Given the description of an element on the screen output the (x, y) to click on. 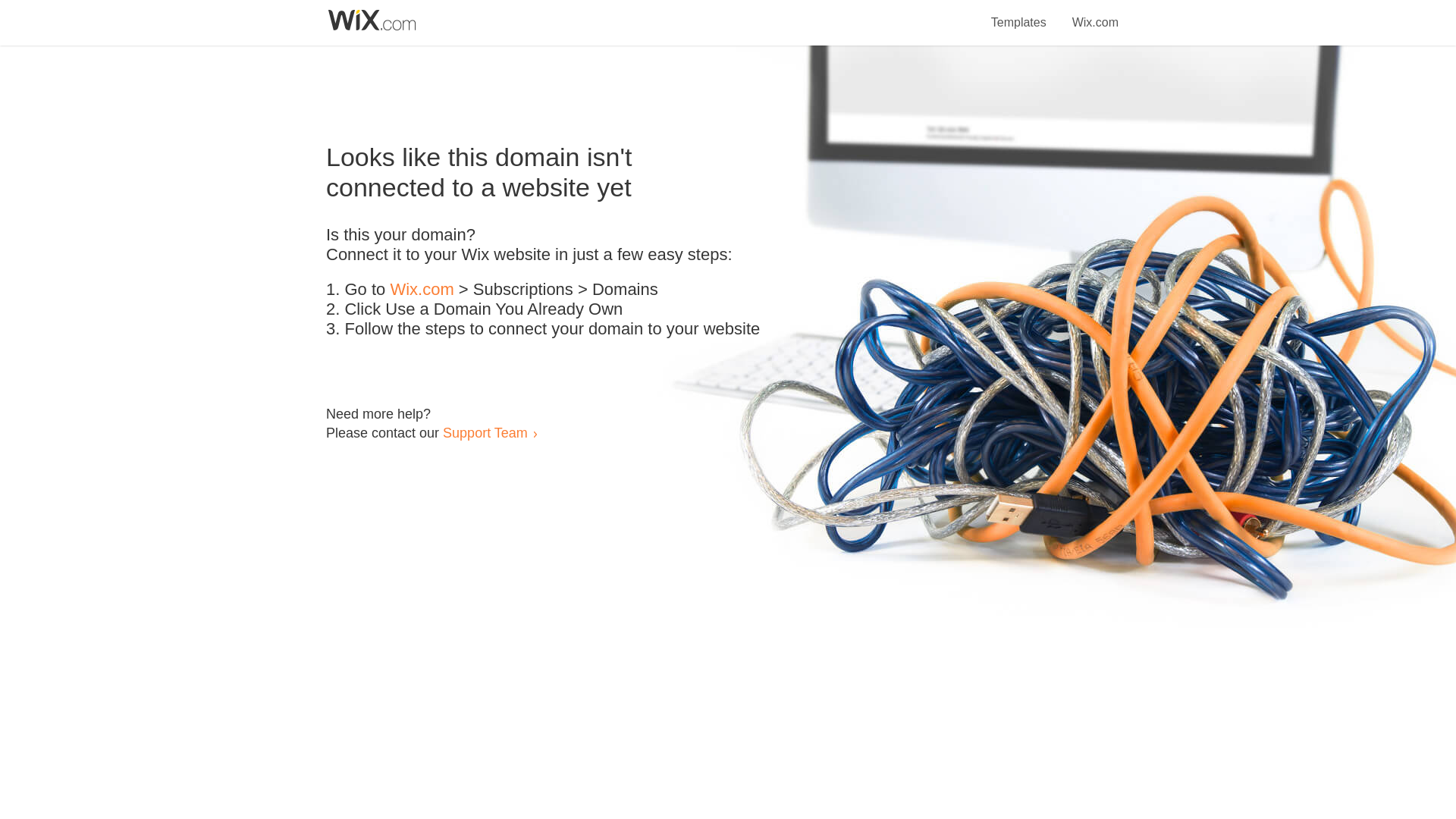
Templates (1018, 14)
Wix.com (1095, 14)
Wix.com (421, 289)
Support Team (484, 432)
